Given the description of an element on the screen output the (x, y) to click on. 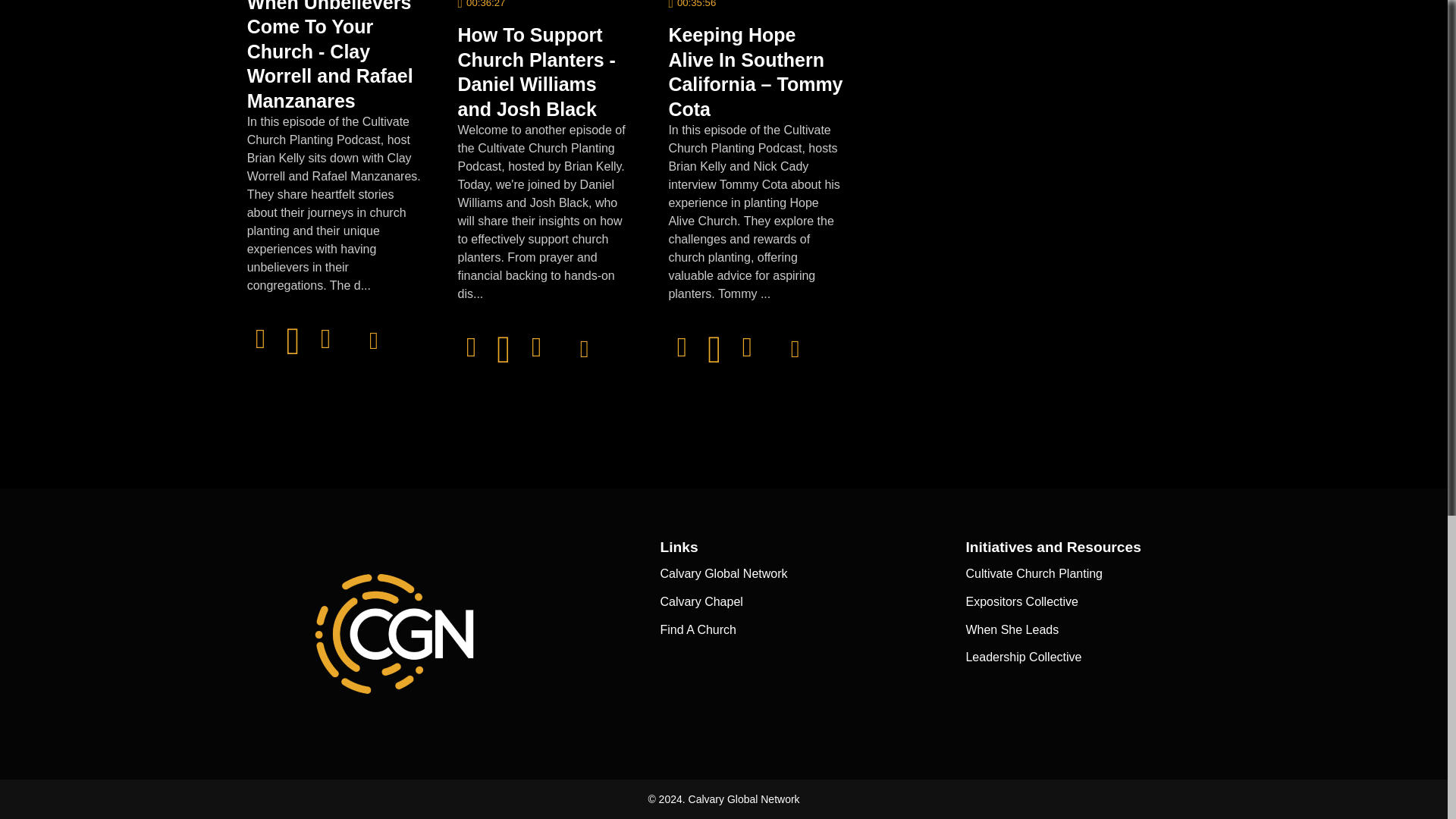
30 (326, 338)
10 (261, 338)
Play (294, 341)
Rewind 10 seconds (261, 338)
Jump forward 30 seconds (326, 338)
